Given the description of an element on the screen output the (x, y) to click on. 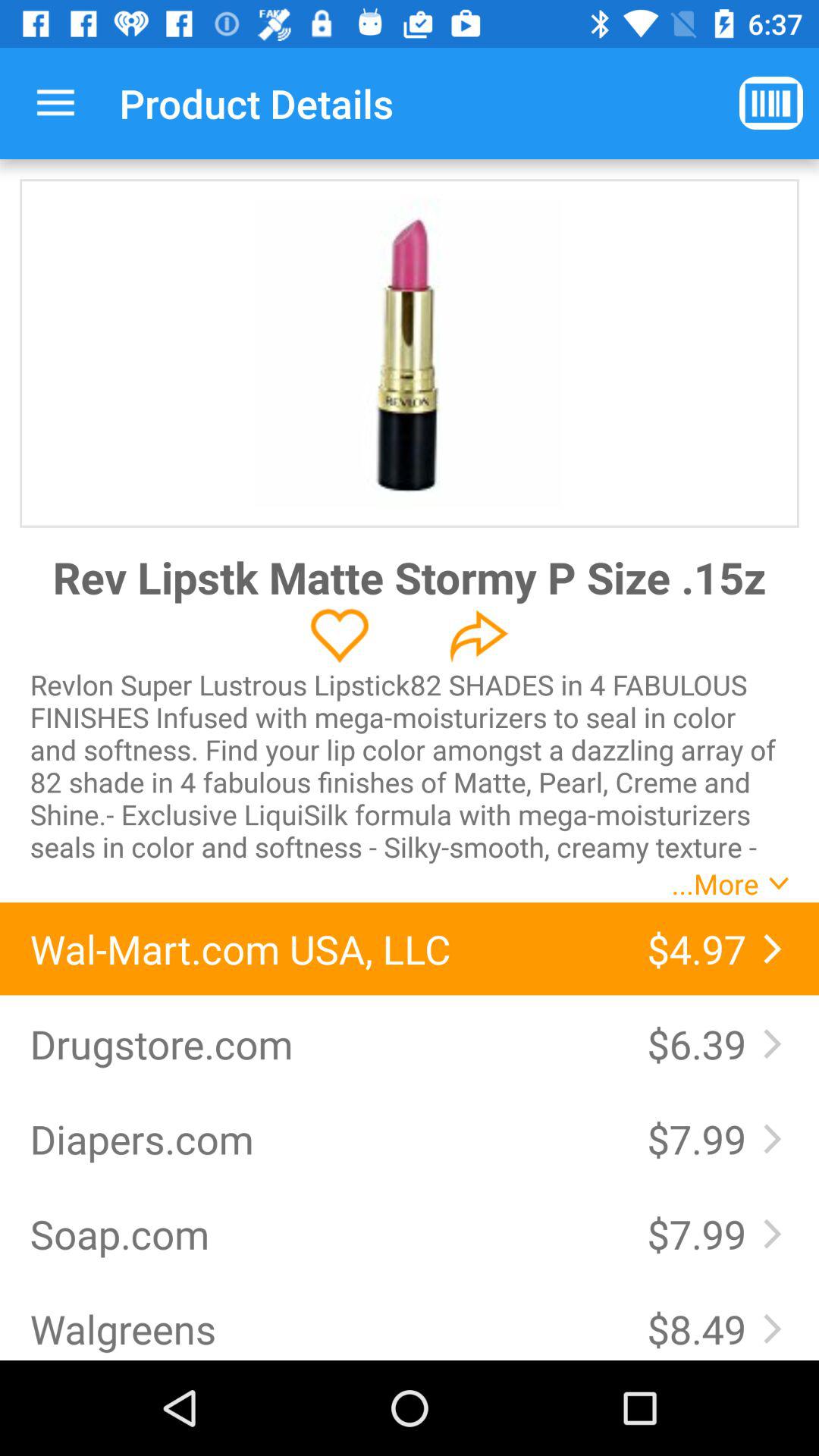
add to favorites (339, 636)
